Given the description of an element on the screen output the (x, y) to click on. 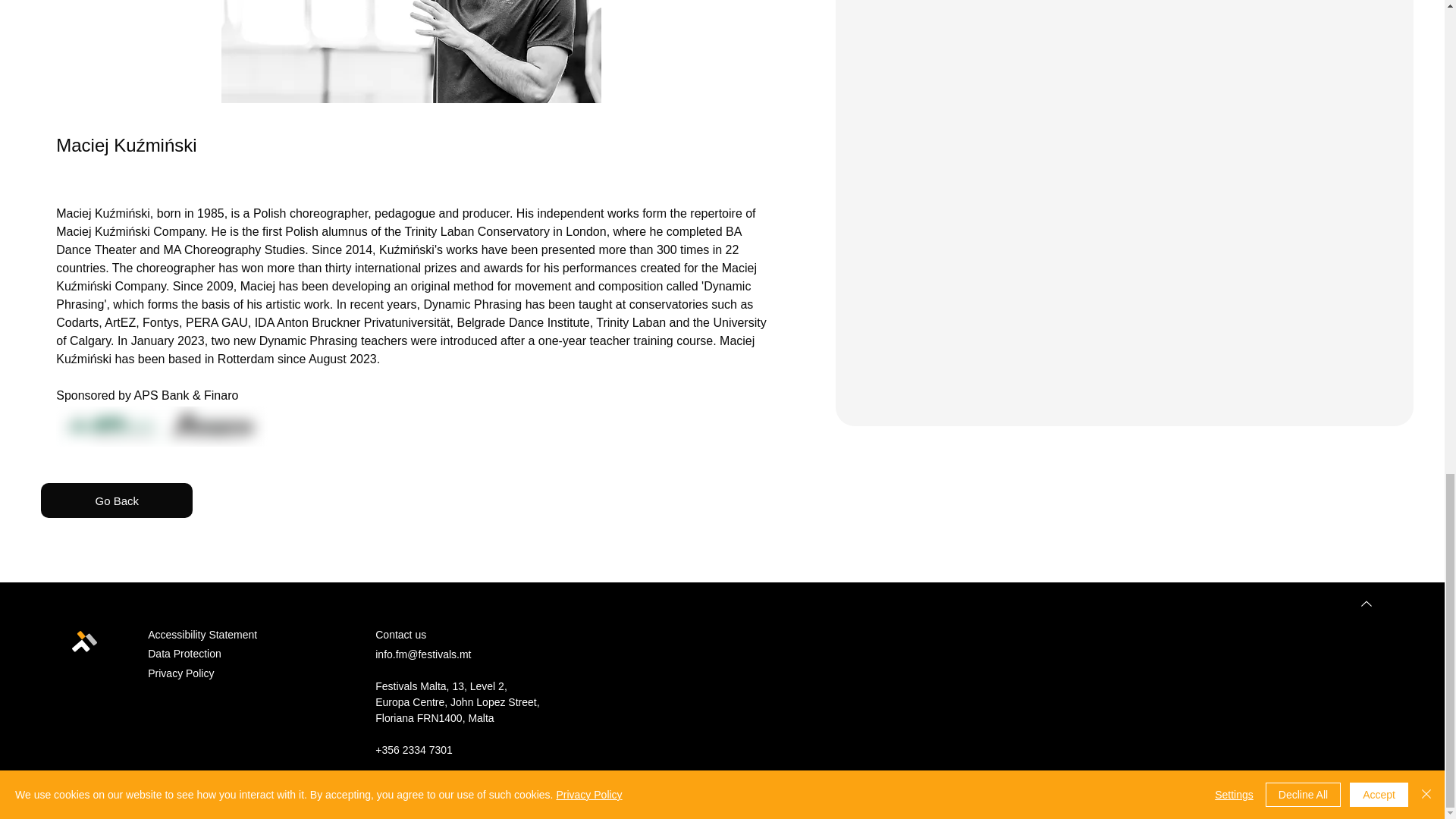
Privacy Policy (181, 673)
Data Protection (184, 653)
Accessibility Statement (202, 634)
Go Back (116, 500)
